Given the description of an element on the screen output the (x, y) to click on. 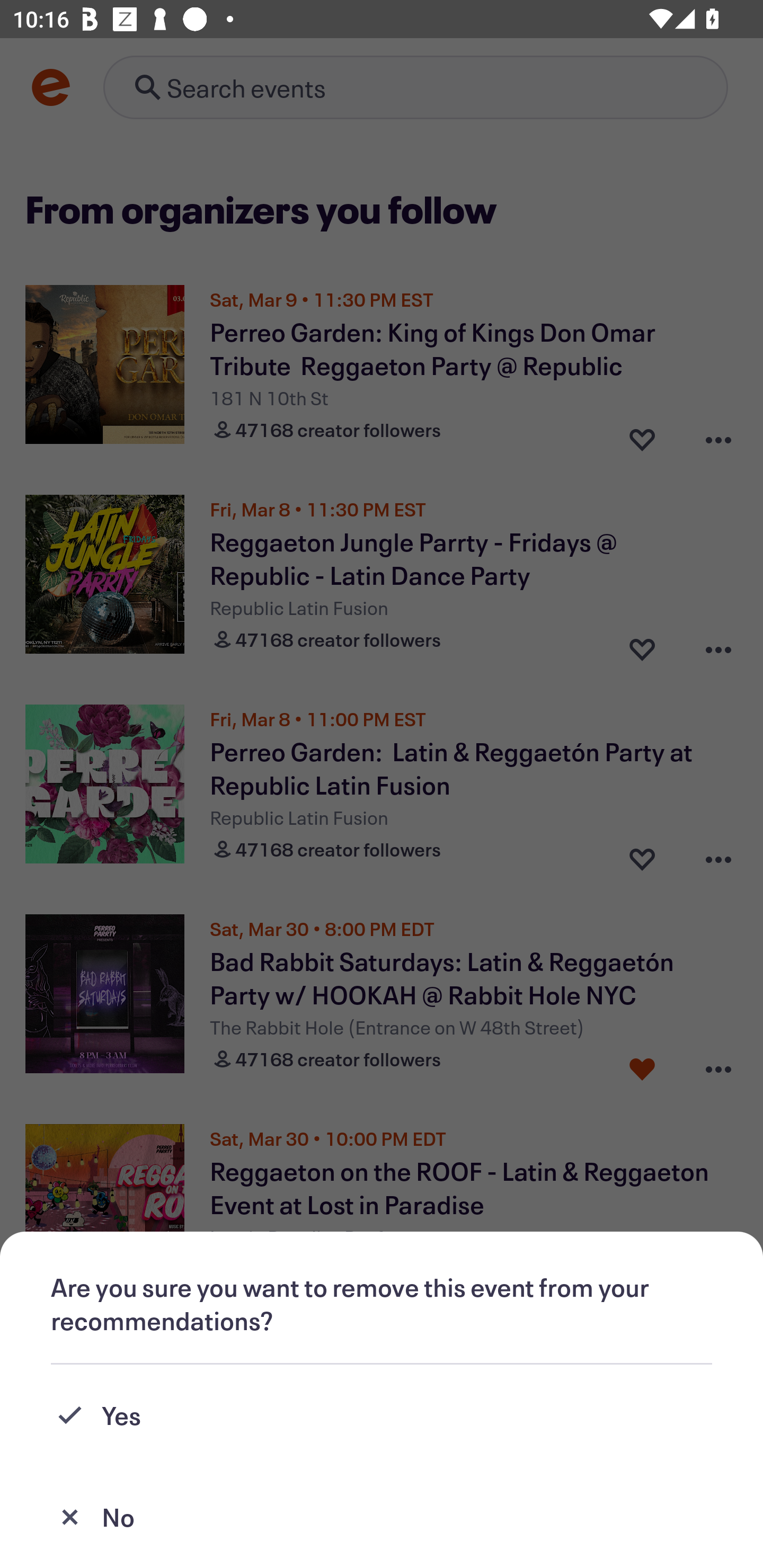
Yes (381, 1415)
No (381, 1517)
